Given the description of an element on the screen output the (x, y) to click on. 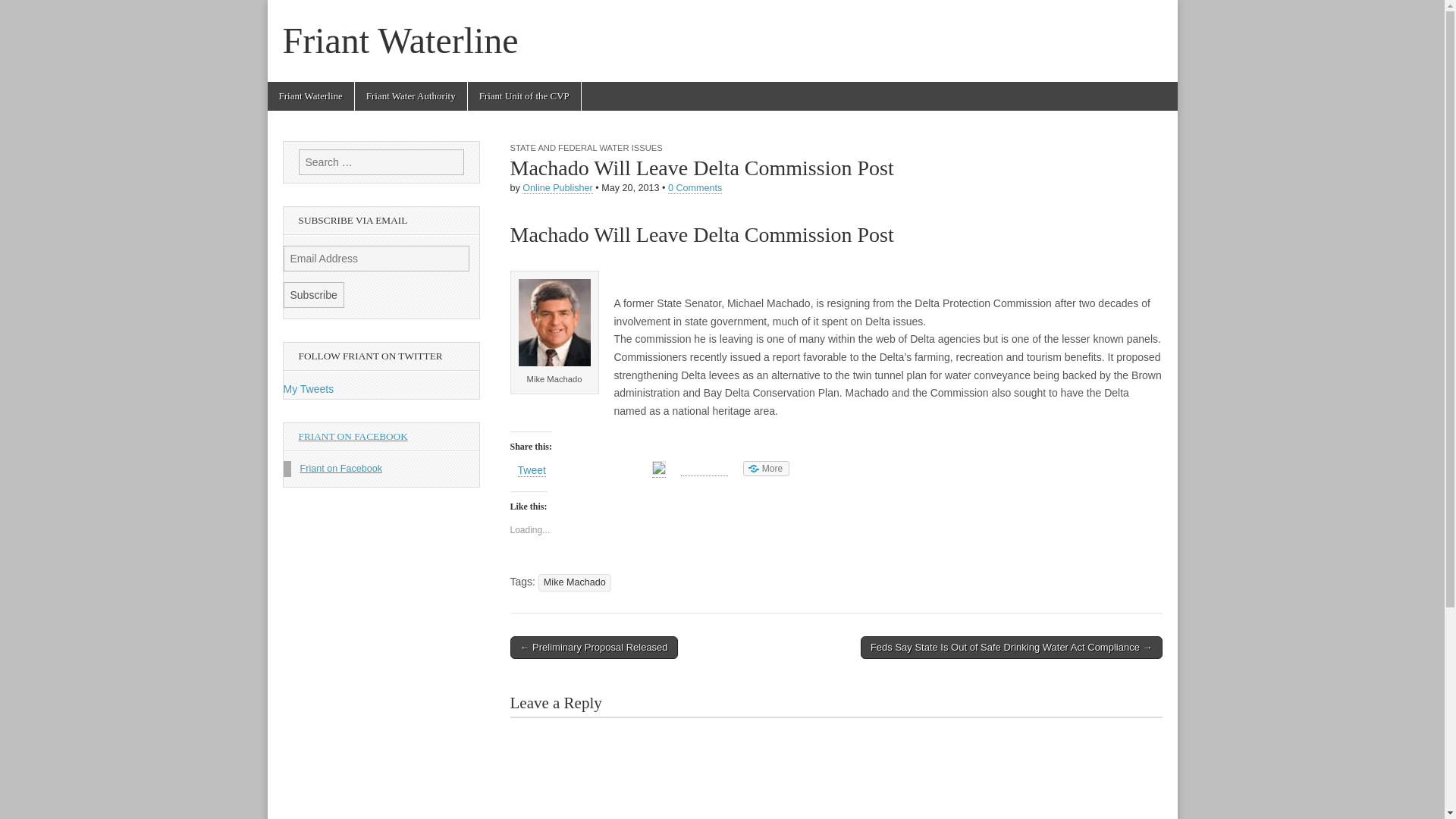
Share on Tumblr (704, 468)
Friant Waterline (309, 95)
Friant Unit of the CVP (523, 95)
Search (23, 12)
Skip to content (296, 89)
STATE AND FEDERAL WATER ISSUES (585, 147)
Friant Waterline (400, 40)
Friant on Facebook (340, 468)
Subscribe (313, 294)
Friant Water Authority (411, 95)
Posts by Online Publisher (557, 188)
0 Comments (695, 188)
Mike Machado (574, 582)
More (765, 468)
Tweet (530, 470)
